Given the description of an element on the screen output the (x, y) to click on. 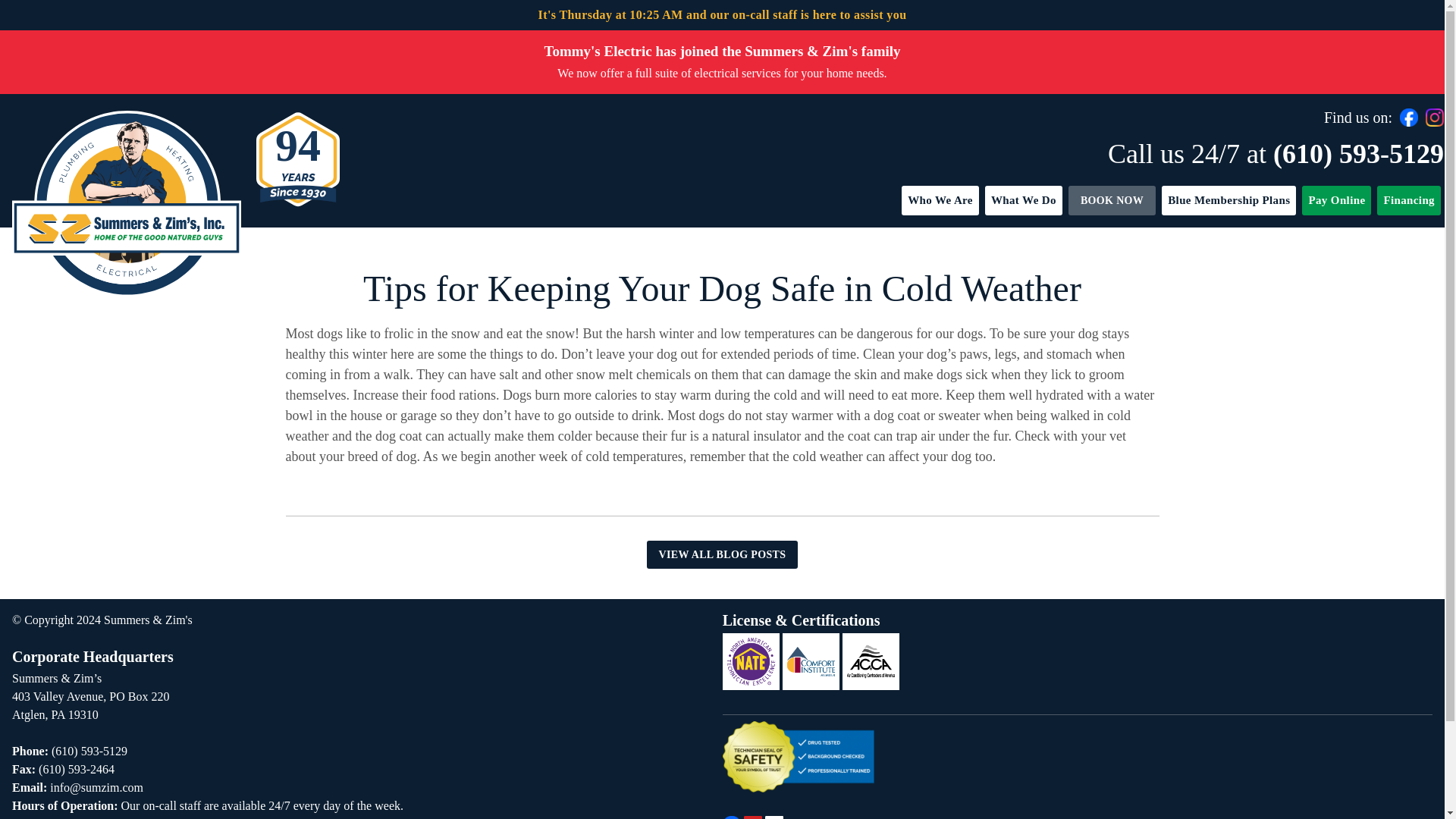
Who We Are (939, 200)
Blue Membership Plans (1228, 200)
BOOK NOW (1112, 200)
Financing (1409, 200)
What We Do (1023, 200)
Pay Online (1336, 200)
VIEW ALL BLOG POSTS (721, 554)
